Given the description of an element on the screen output the (x, y) to click on. 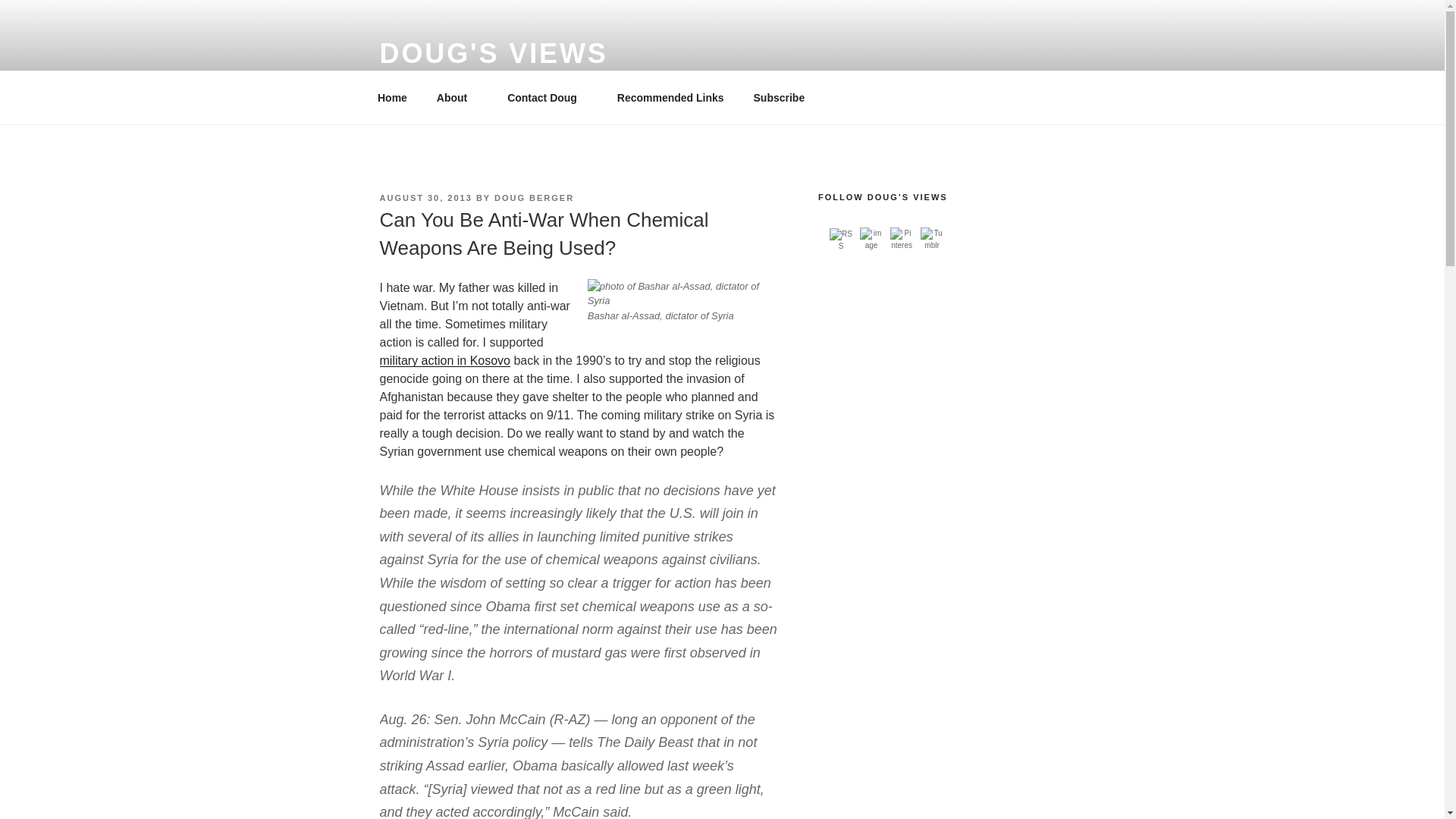
Check out my Tumblr page (931, 238)
Subscribe (778, 97)
Follow My Feed (840, 239)
Bashar al-Assad, dictator of Syria (682, 293)
DOUG BERGER (534, 197)
military action in Kosovo (444, 359)
Contact Doug (548, 97)
AUGUST 30, 2013 (424, 197)
Find me on Pinterest (900, 238)
Home (392, 97)
DOUG'S VIEWS (492, 52)
Recommended Links (670, 97)
Find me on Facebook (871, 238)
About (456, 97)
